Given the description of an element on the screen output the (x, y) to click on. 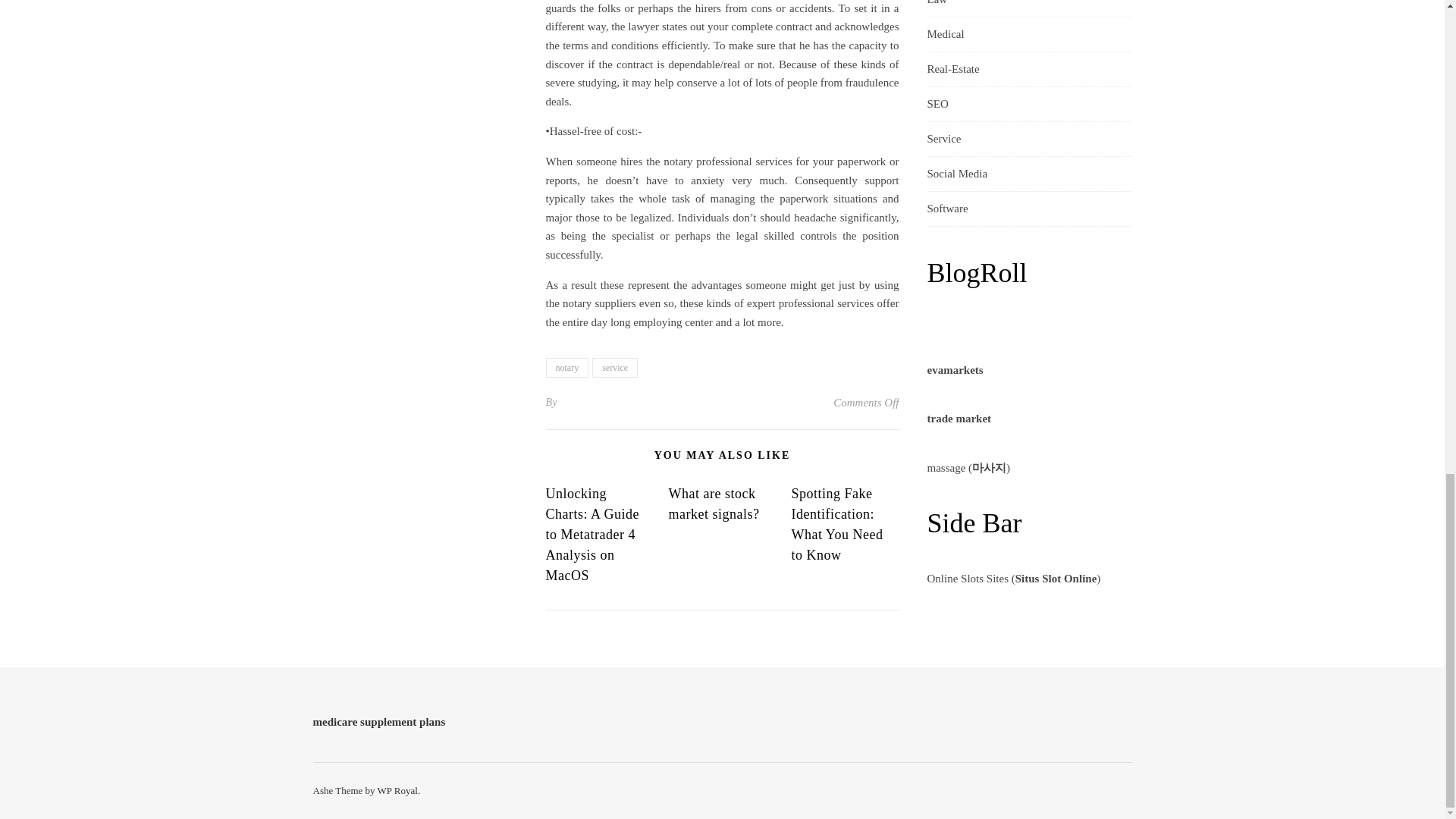
Real-Estate (952, 69)
notary (567, 367)
Unlocking Charts: A Guide to Metatrader 4 Analysis on MacOS (593, 534)
Medical (944, 34)
Software (947, 208)
Service (943, 139)
Spotting Fake Identification: What You Need to Know (836, 524)
Social Media (956, 173)
evamarkets (954, 369)
What are stock market signals? (713, 503)
service (614, 367)
Law (936, 8)
